Given the description of an element on the screen output the (x, y) to click on. 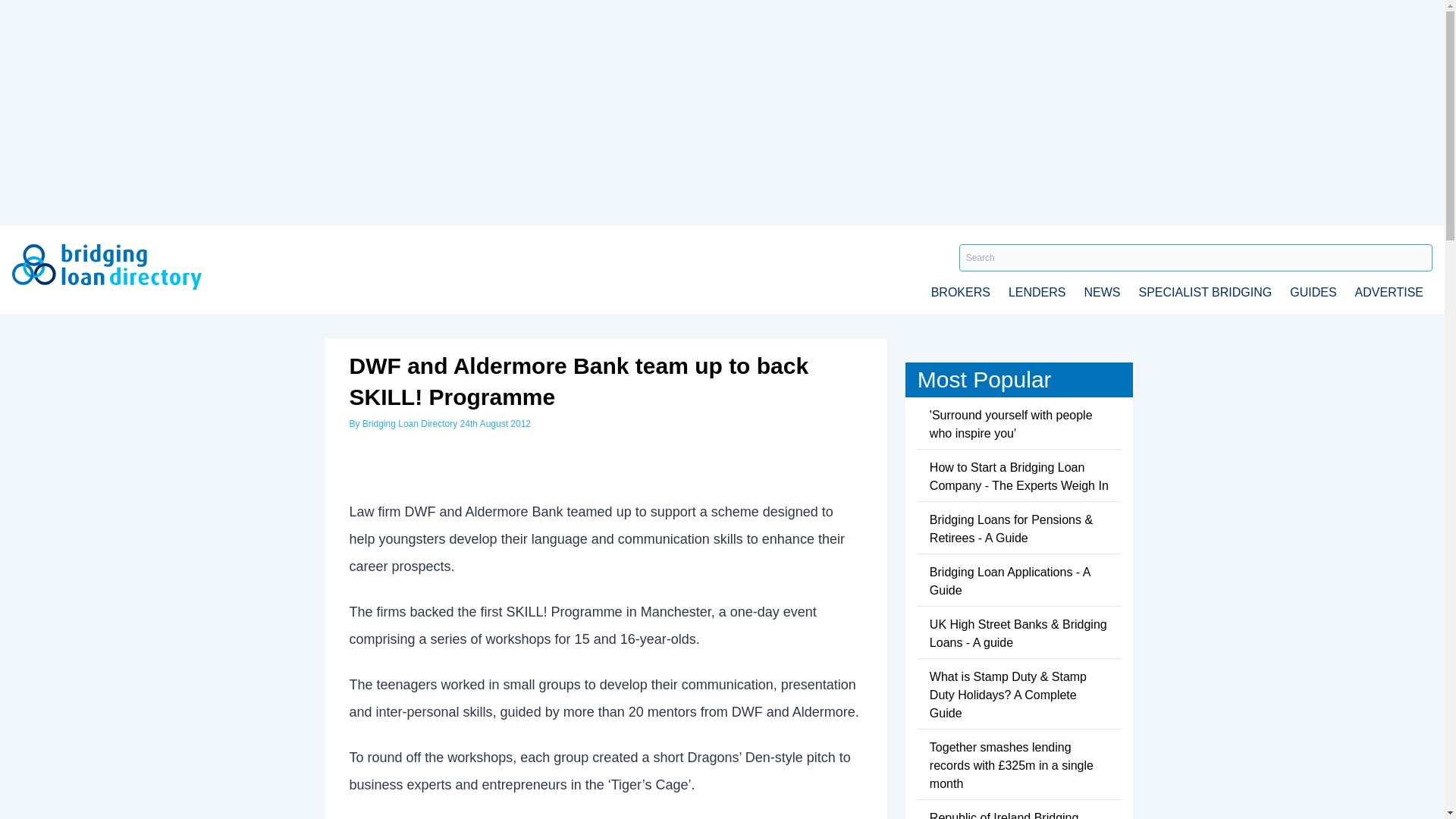
Posts by Bridging Loan Directory (409, 423)
